Given the description of an element on the screen output the (x, y) to click on. 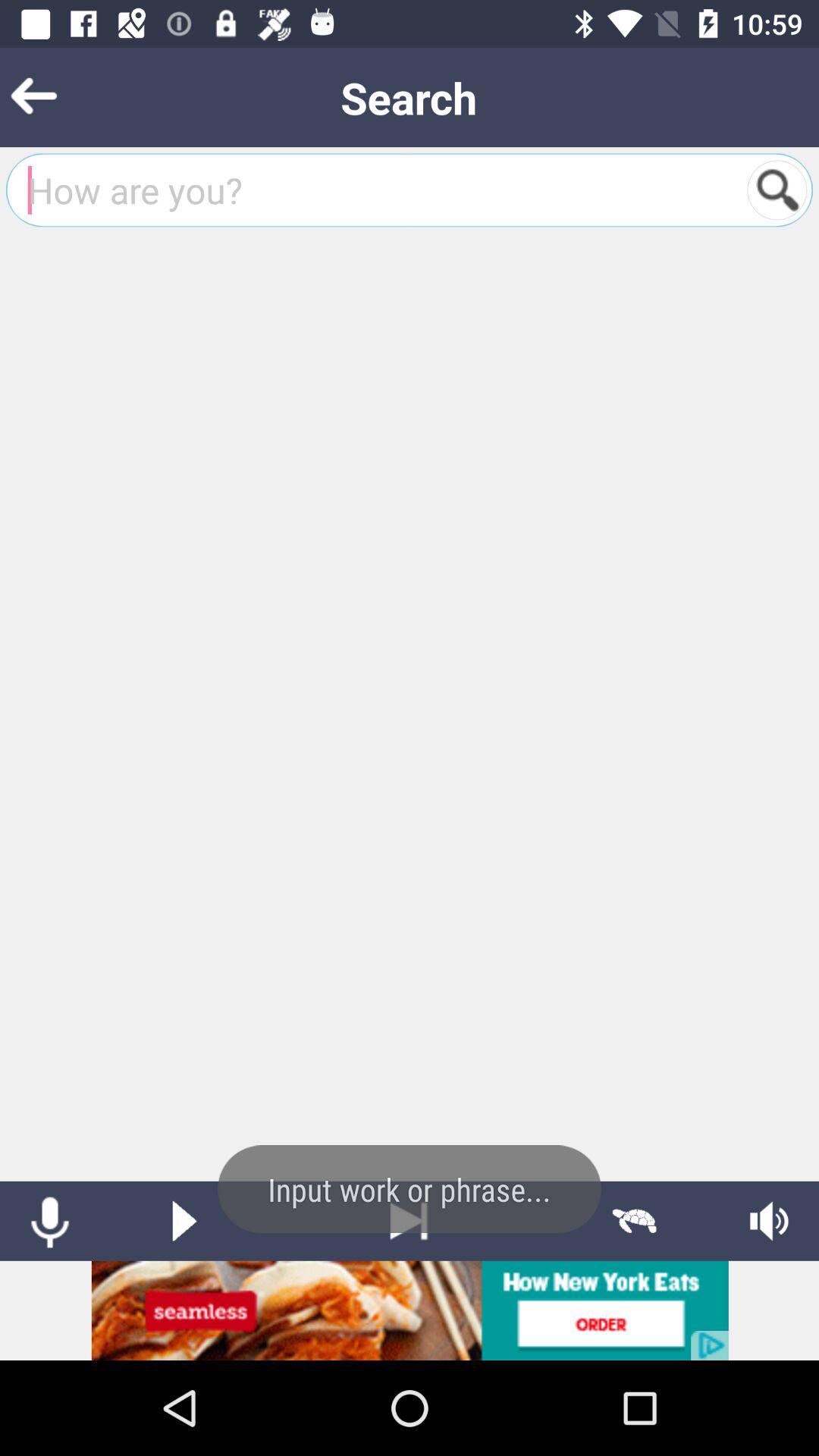
place order (409, 1310)
